Given the description of an element on the screen output the (x, y) to click on. 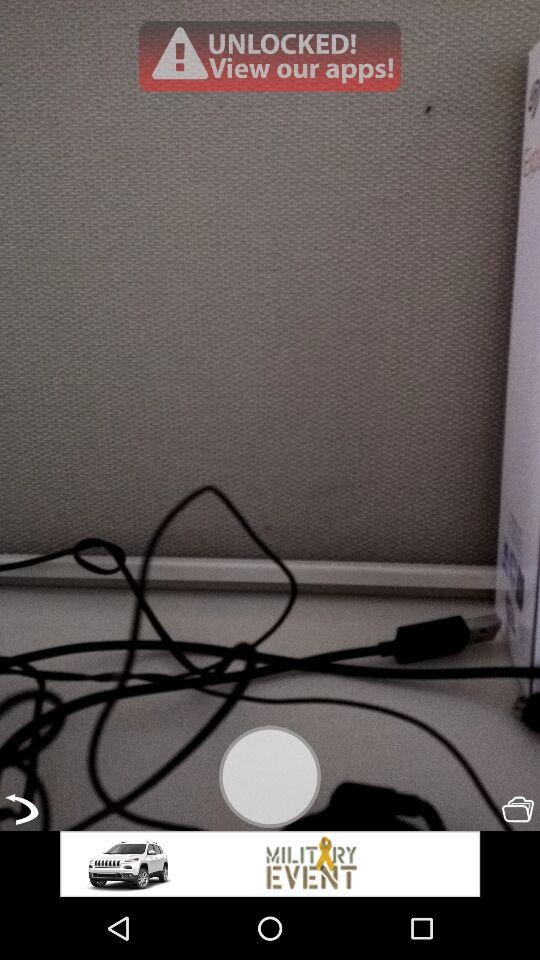
click to view apps (269, 56)
